Given the description of an element on the screen output the (x, y) to click on. 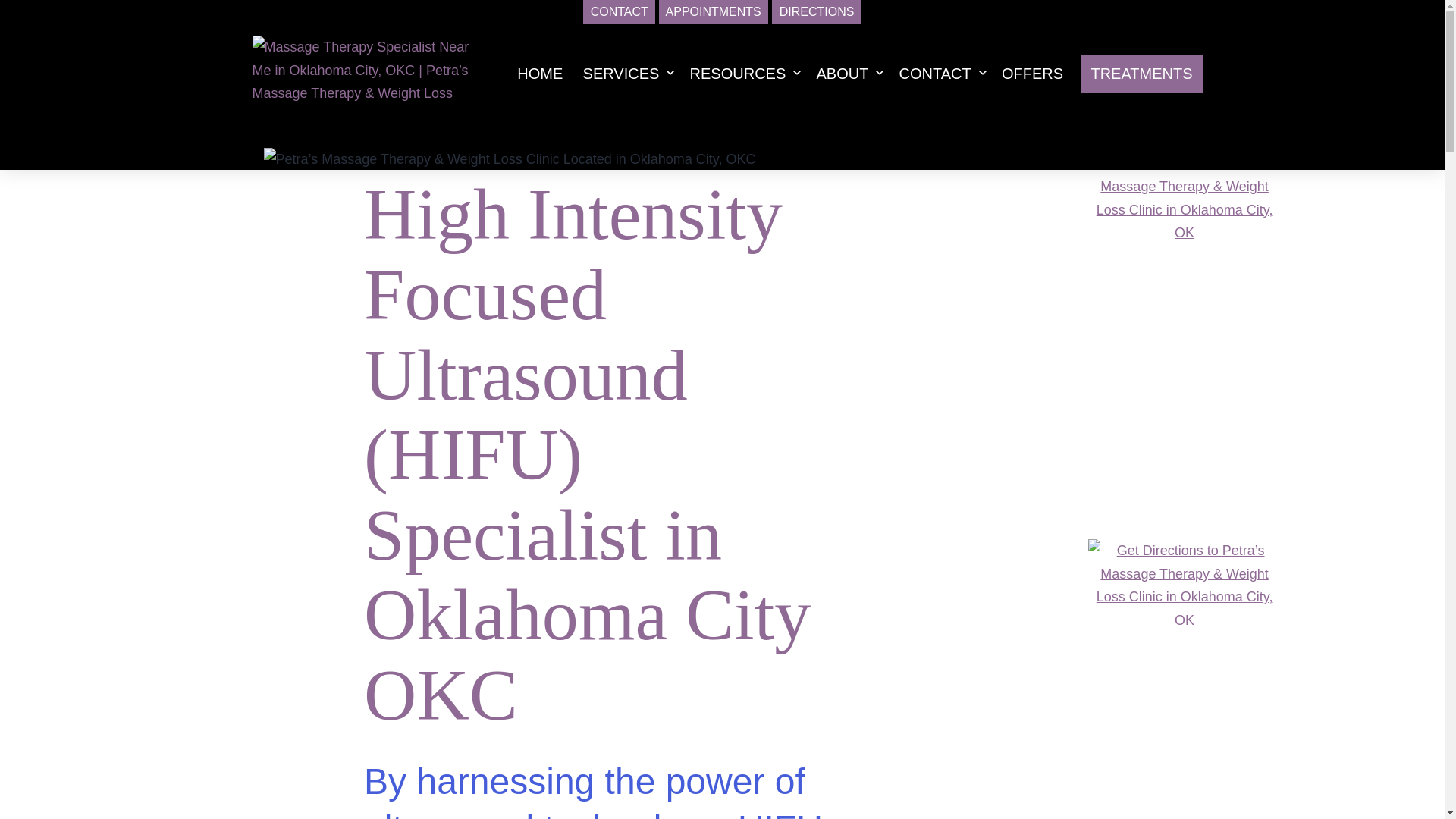
CONTACT (619, 12)
DIRECTIONS (816, 12)
HOME (539, 72)
APPOINTMENTS (713, 12)
SERVICES (620, 72)
